Given the description of an element on the screen output the (x, y) to click on. 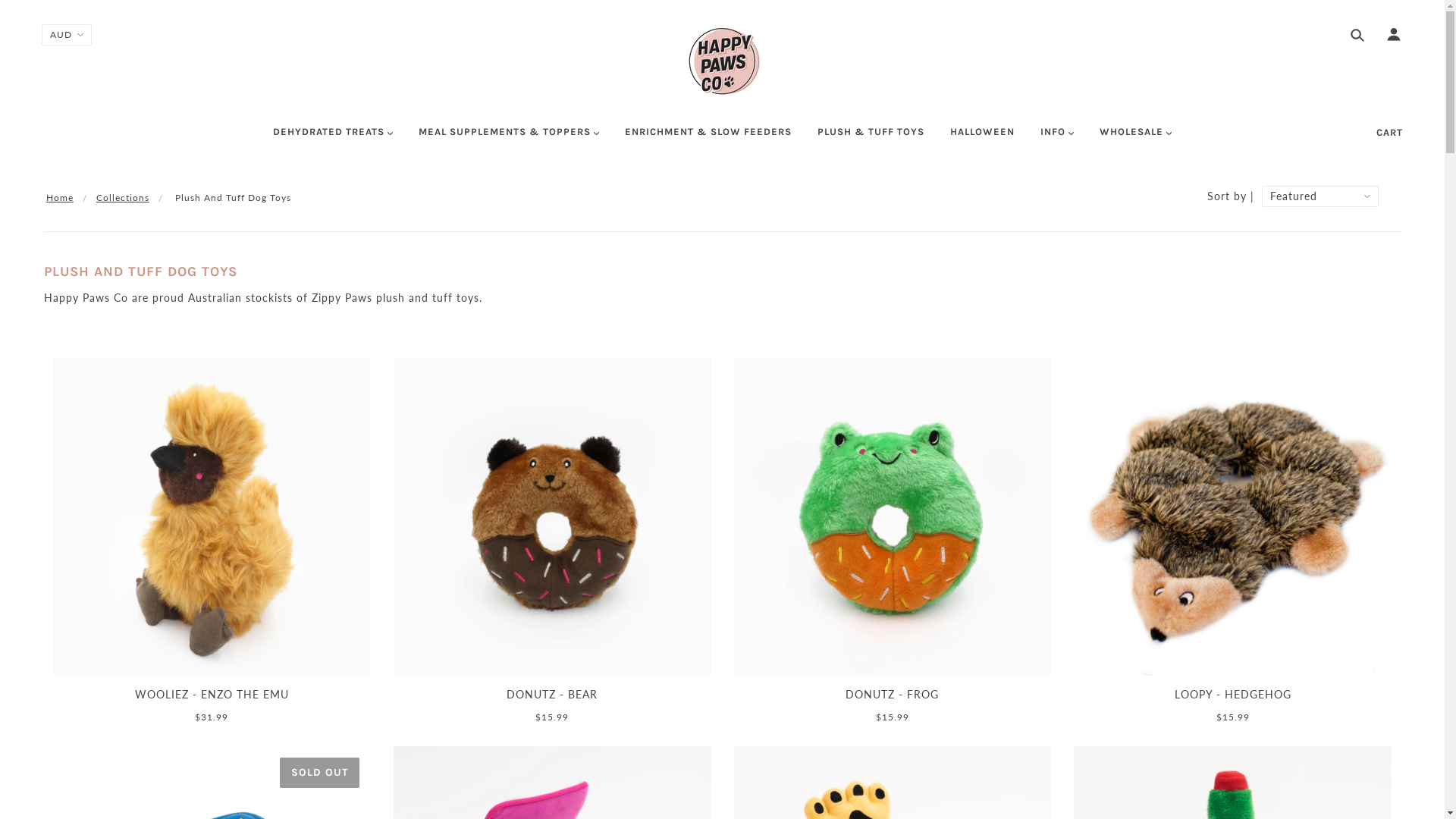
DEHYDRATED TREATS Element type: text (332, 137)
$15.99 Element type: text (1232, 716)
MEAL SUPPLEMENTS & TOPPERS Element type: text (508, 137)
Happy Paws Co Element type: hover (721, 60)
WHOLESALE Element type: text (1135, 137)
WOOLIEZ - ENZO THE EMU Element type: text (211, 698)
DONUTZ - BEAR Element type: text (552, 698)
ENRICHMENT & SLOW FEEDERS Element type: text (708, 137)
INFO Element type: text (1057, 137)
CART Element type: text (1389, 132)
$15.99 Element type: text (892, 716)
Home Element type: text (59, 197)
HALLOWEEN Element type: text (982, 137)
Collections Element type: text (122, 197)
PLUSH & TUFF TOYS Element type: text (870, 137)
DONUTZ - FROG Element type: text (892, 698)
$31.99 Element type: text (211, 716)
$15.99 Element type: text (552, 716)
LOOPY - HEDGEHOG Element type: text (1232, 698)
